Given the description of an element on the screen output the (x, y) to click on. 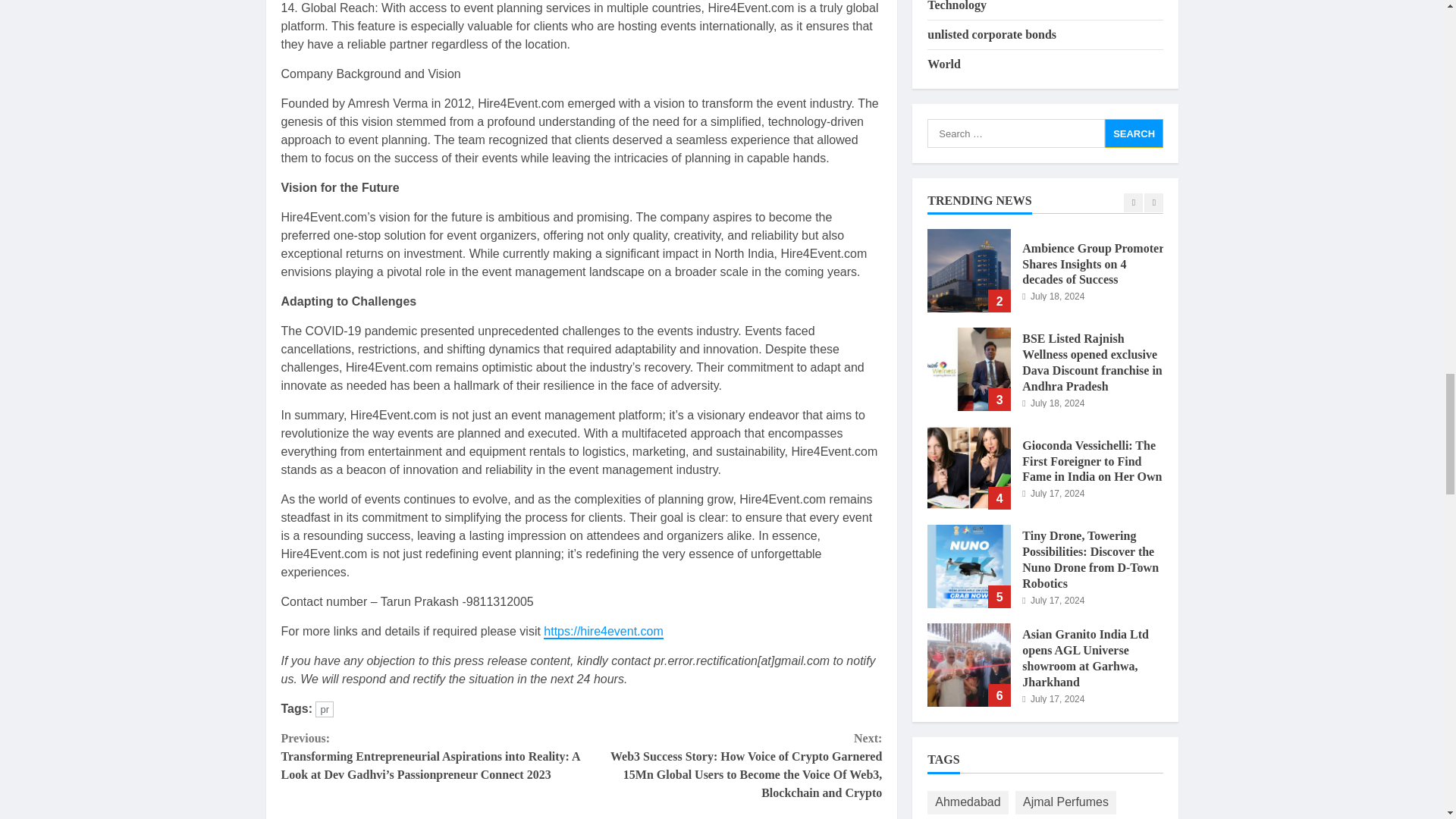
Search (1134, 133)
Search (1134, 133)
